Given the description of an element on the screen output the (x, y) to click on. 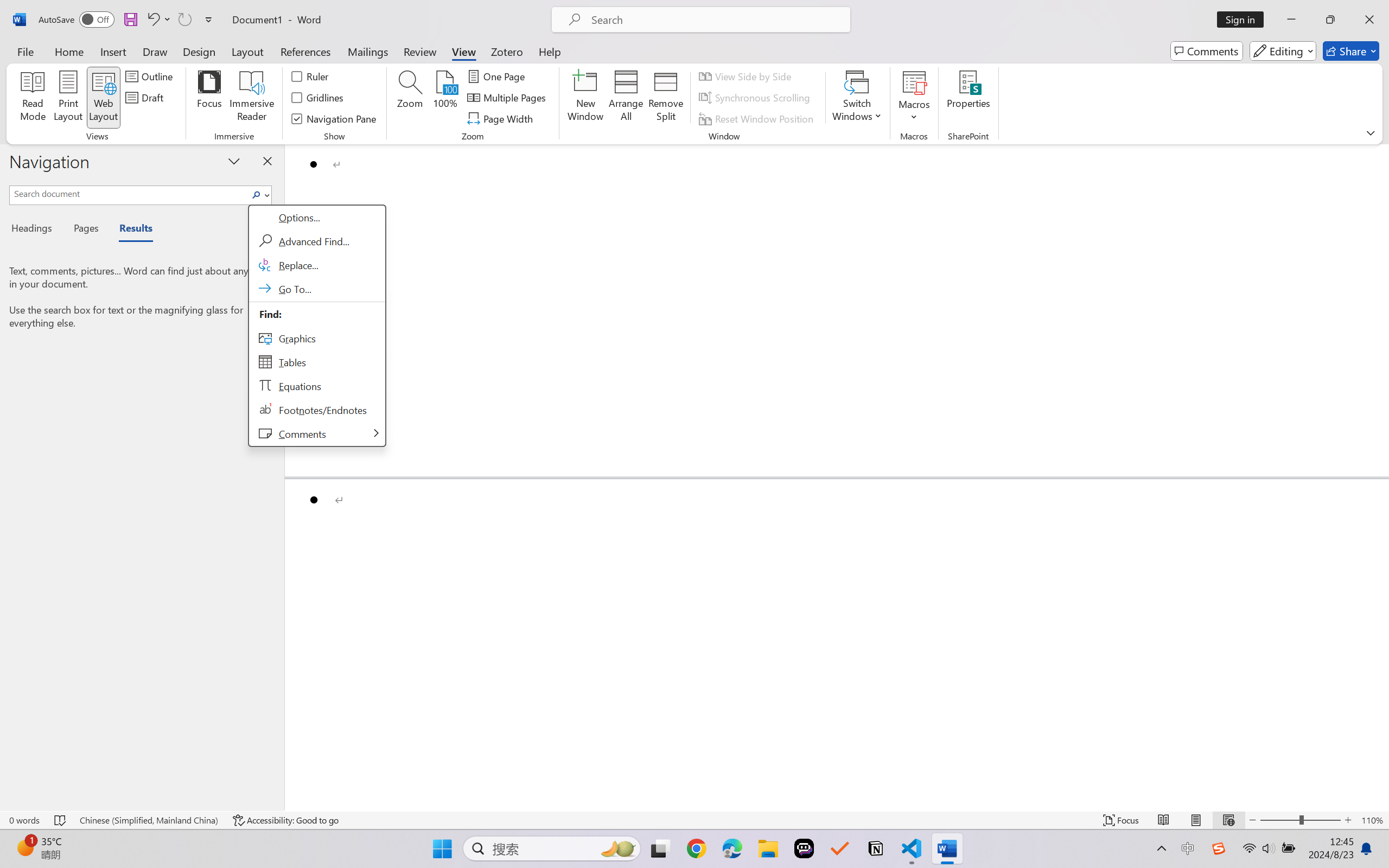
Undo Bullet Default (152, 19)
Immersive Reader (251, 97)
Focus (209, 97)
Headings (35, 229)
